Given the description of an element on the screen output the (x, y) to click on. 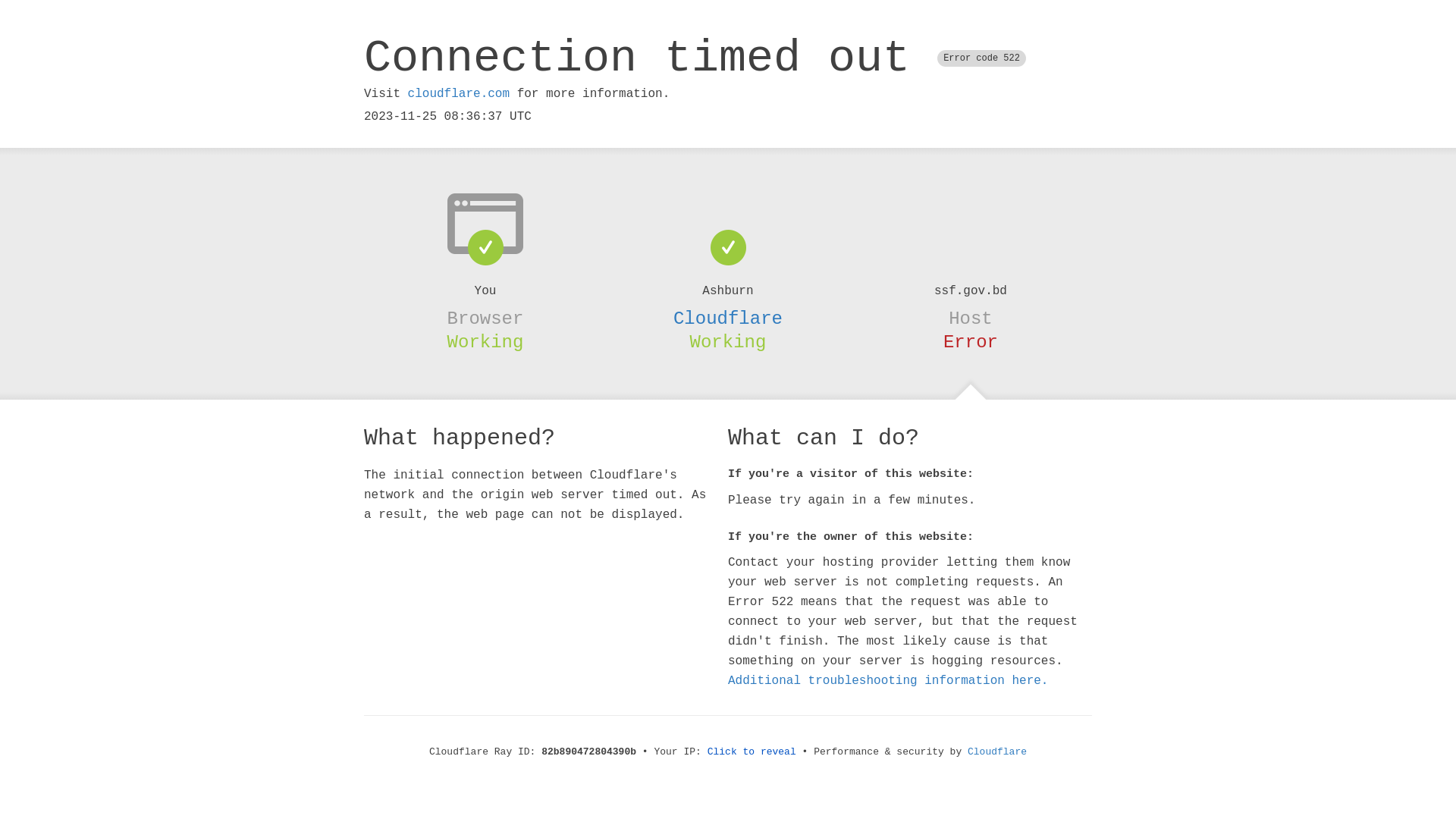
Additional troubleshooting information here. Element type: text (888, 680)
cloudflare.com Element type: text (458, 93)
Click to reveal Element type: text (751, 751)
Cloudflare Element type: text (727, 318)
Cloudflare Element type: text (996, 751)
